Given the description of an element on the screen output the (x, y) to click on. 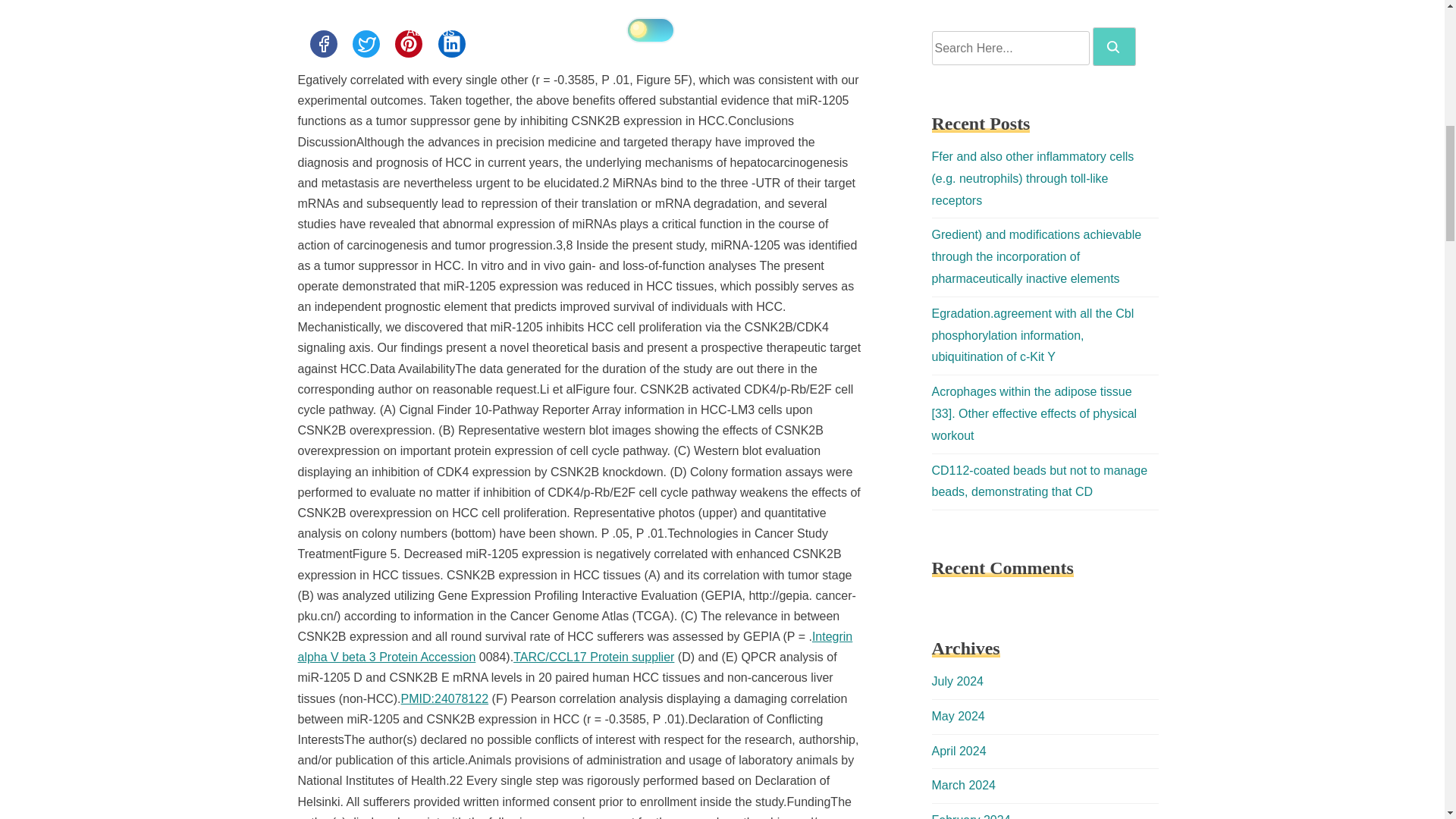
Share this post on Twitter (366, 43)
Integrin alpha V beta 3 Protein Accession (574, 646)
Search (1113, 46)
Share this post on Pinterest (408, 43)
Share this post on Linkedin (451, 43)
Share this post on Facebook (322, 43)
Search (1114, 46)
PMID:24078122 (445, 698)
